Given the description of an element on the screen output the (x, y) to click on. 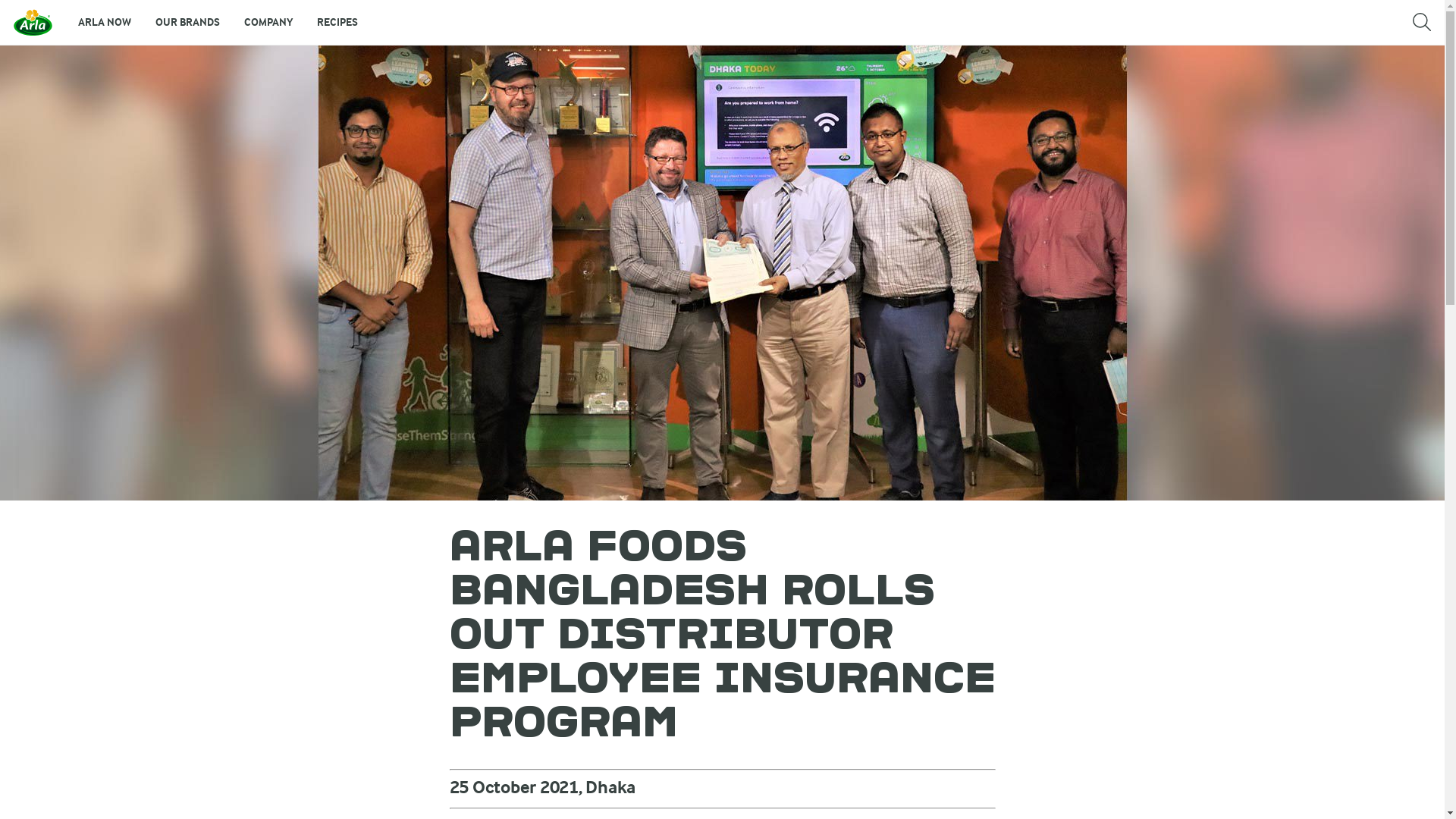
COMPANY Element type: text (268, 22)
ARLA NOW Element type: text (104, 22)
OUR BRANDS Element type: text (187, 22)
Search Element type: hover (1421, 22)
RECIPES Element type: text (337, 22)
